Given the description of an element on the screen output the (x, y) to click on. 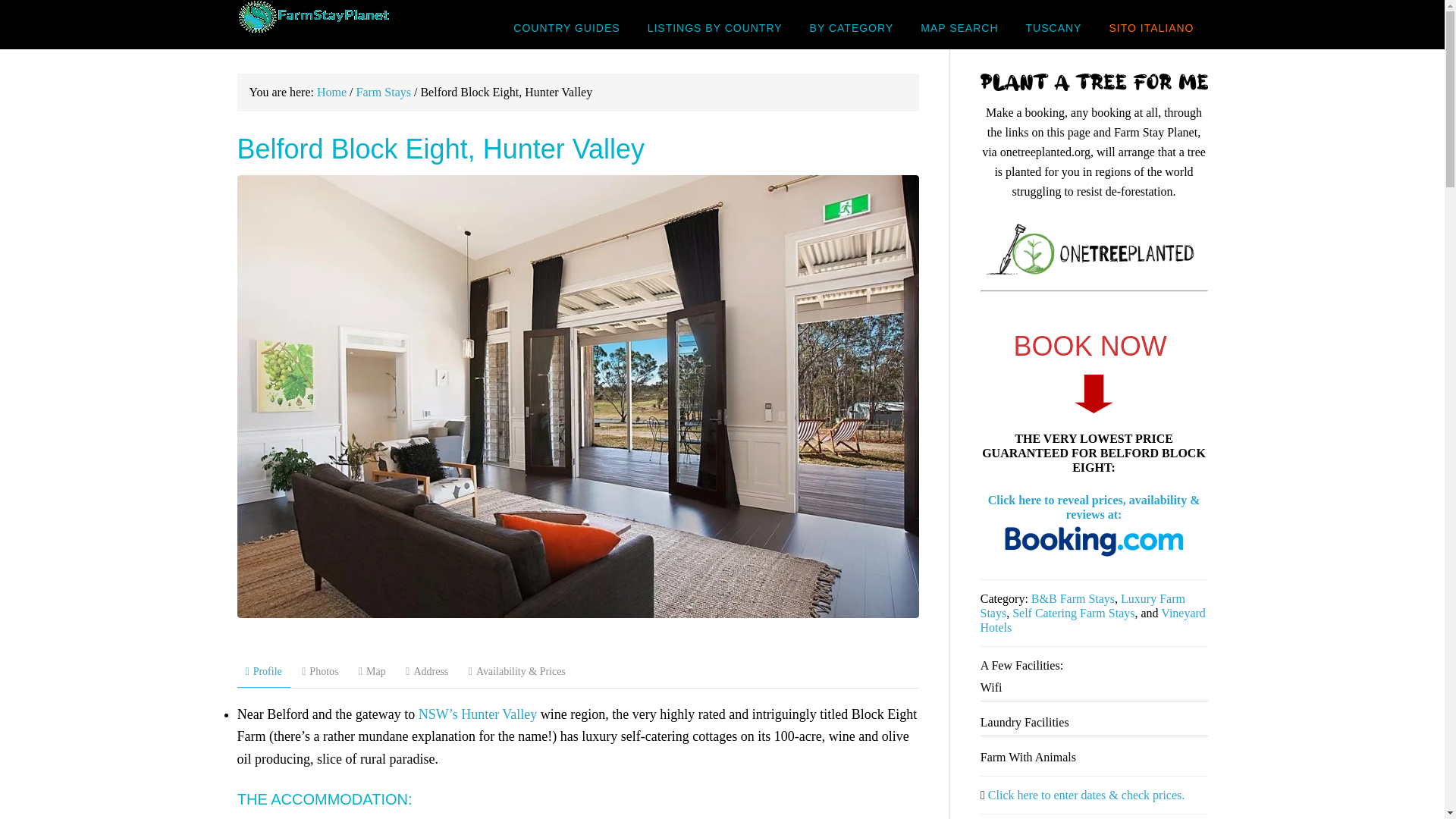
FARM STAY PLANET (357, 24)
COUNTRY GUIDES (566, 27)
LISTINGS BY COUNTRY (714, 27)
